Given the description of an element on the screen output the (x, y) to click on. 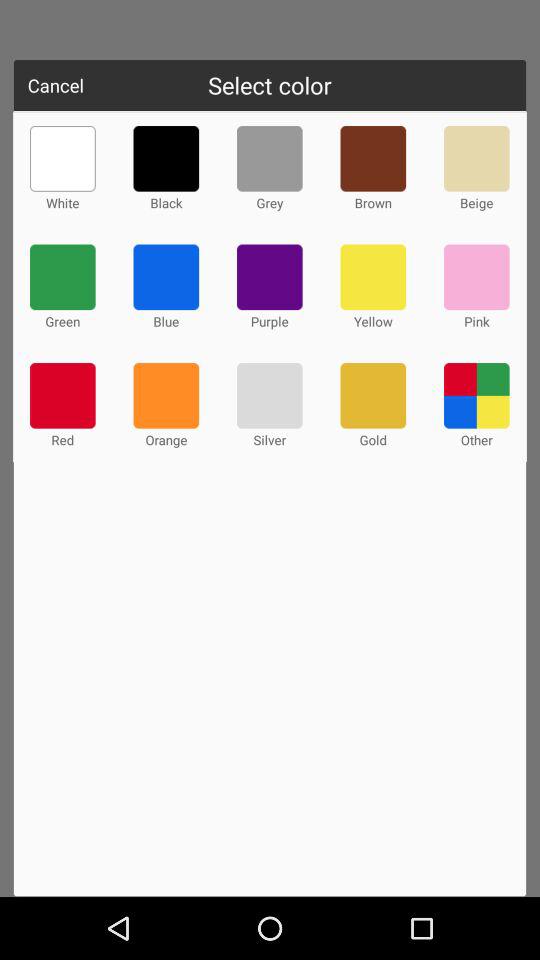
tap item to the left of select color item (55, 85)
